Given the description of an element on the screen output the (x, y) to click on. 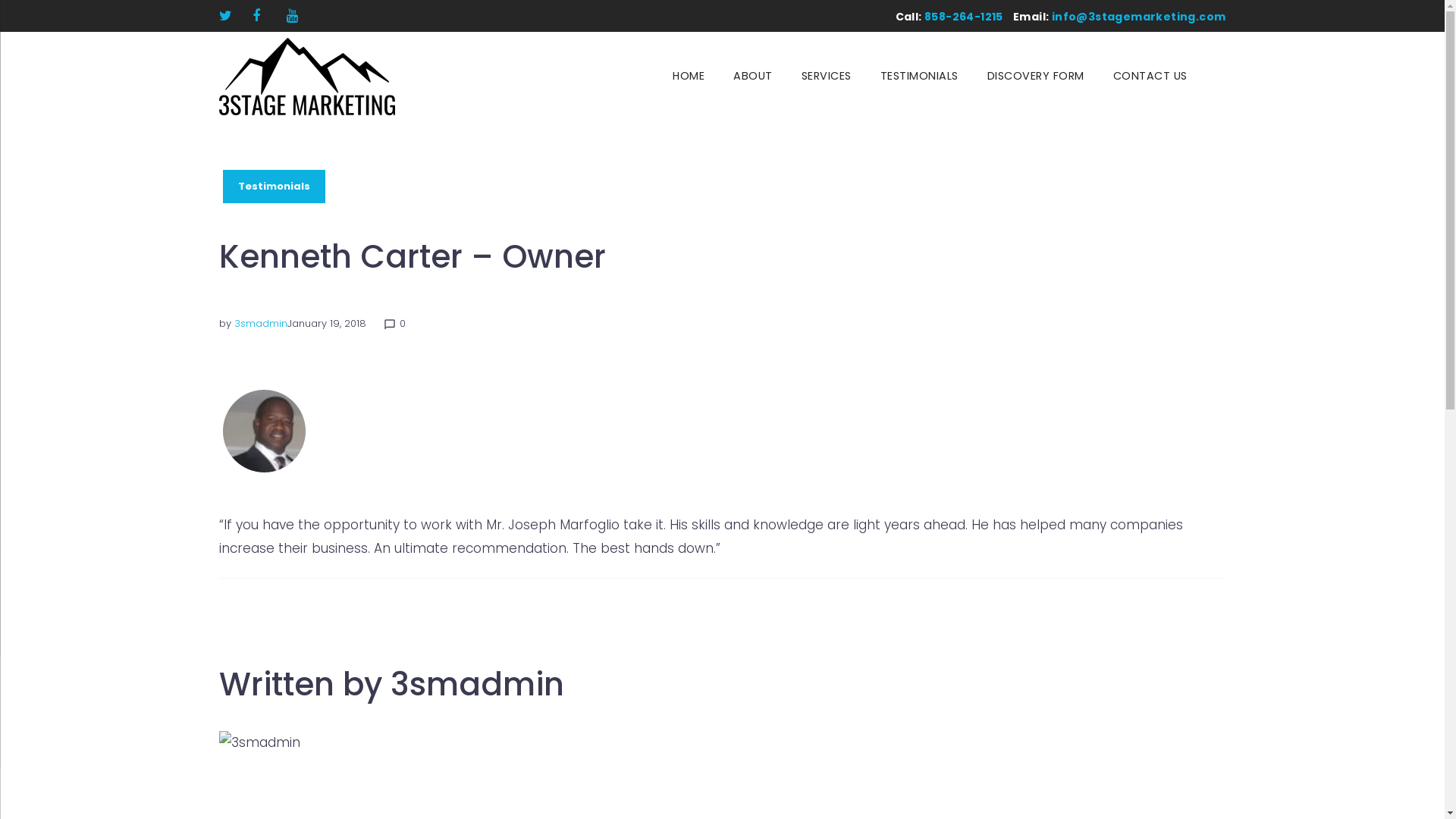
Skip to content Element type: text (0, 0)
TESTIMONIALS Element type: text (919, 77)
ABOUT Element type: text (752, 77)
Testimonials Element type: text (273, 185)
HOME Element type: text (688, 77)
CONTACT US Element type: text (1149, 77)
SERVICES Element type: text (826, 77)
January 19, 2018 Element type: text (325, 323)
info@3stagemarketing.com Element type: text (1138, 16)
858-264-1215 Element type: text (963, 16)
chat_bubble_outline0 Element type: text (394, 323)
3smadmin Element type: text (259, 323)
3smadmin Element type: text (476, 684)
DISCOVERY FORM Element type: text (1035, 77)
